Given the description of an element on the screen output the (x, y) to click on. 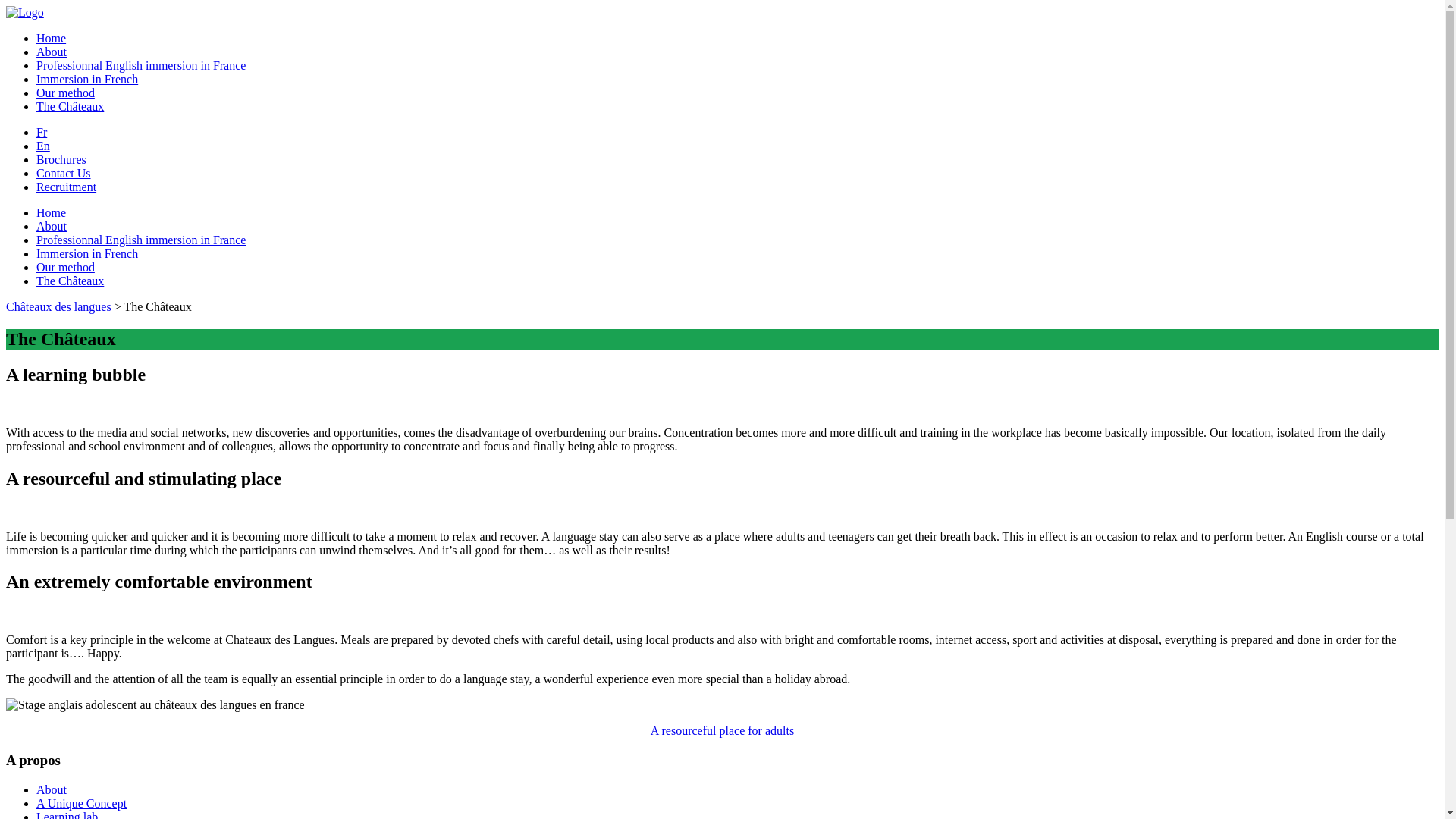
About Element type: text (51, 225)
A resourceful place for adults Element type: text (721, 730)
Professionnal English immersion in France Element type: text (140, 239)
Home Element type: text (50, 37)
A Unique Concept Element type: text (81, 803)
Fr Element type: text (41, 131)
Home Element type: text (50, 212)
Immersion in French Element type: text (87, 253)
Contact Us Element type: text (63, 172)
About Element type: text (51, 51)
About Element type: text (51, 789)
Our method Element type: text (65, 266)
Brochures Element type: text (61, 159)
En Element type: text (43, 145)
Immersion in French Element type: text (87, 78)
Our method Element type: text (65, 92)
Professionnal English immersion in France Element type: text (140, 65)
Recruitment Element type: text (66, 186)
